Given the description of an element on the screen output the (x, y) to click on. 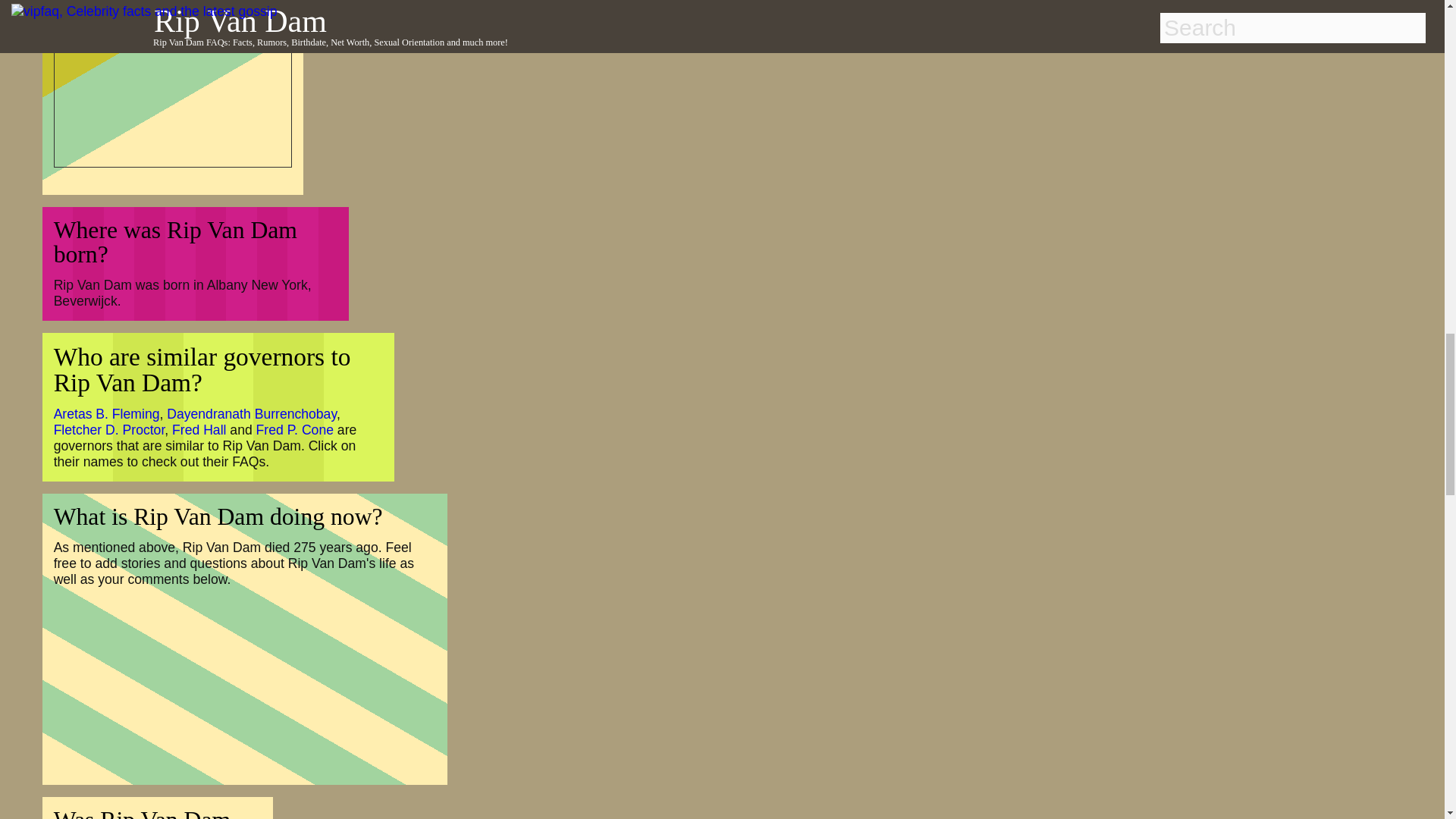
Fletcher D. Proctor (109, 428)
Dayendranath Burrenchobay (251, 413)
Fred P. Cone (294, 428)
Aretas B. Fleming (106, 413)
Fred Hall (198, 428)
